Given the description of an element on the screen output the (x, y) to click on. 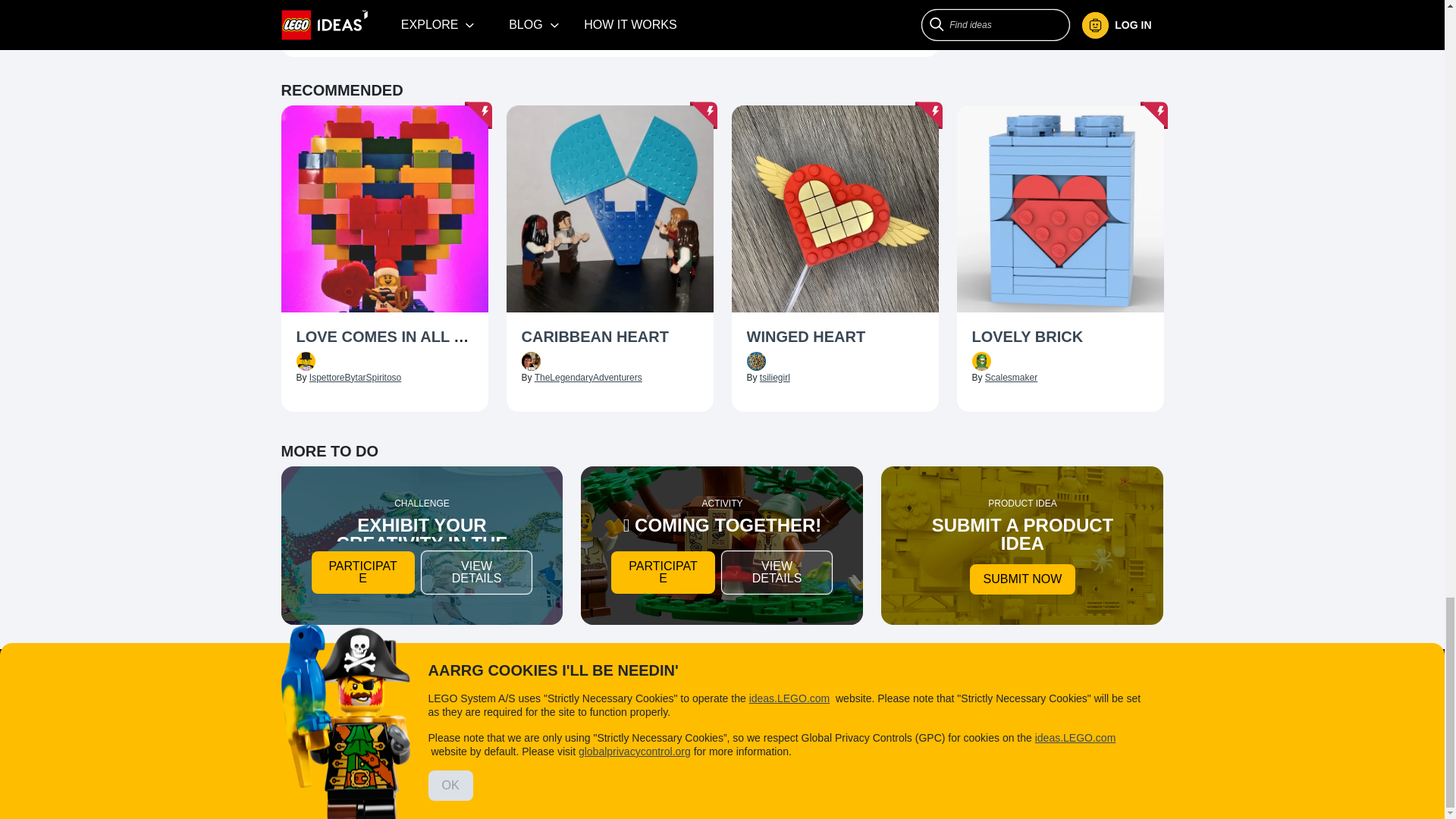
Caribbean Heart (609, 337)
Love Comes in All Colors (383, 337)
